Given the description of an element on the screen output the (x, y) to click on. 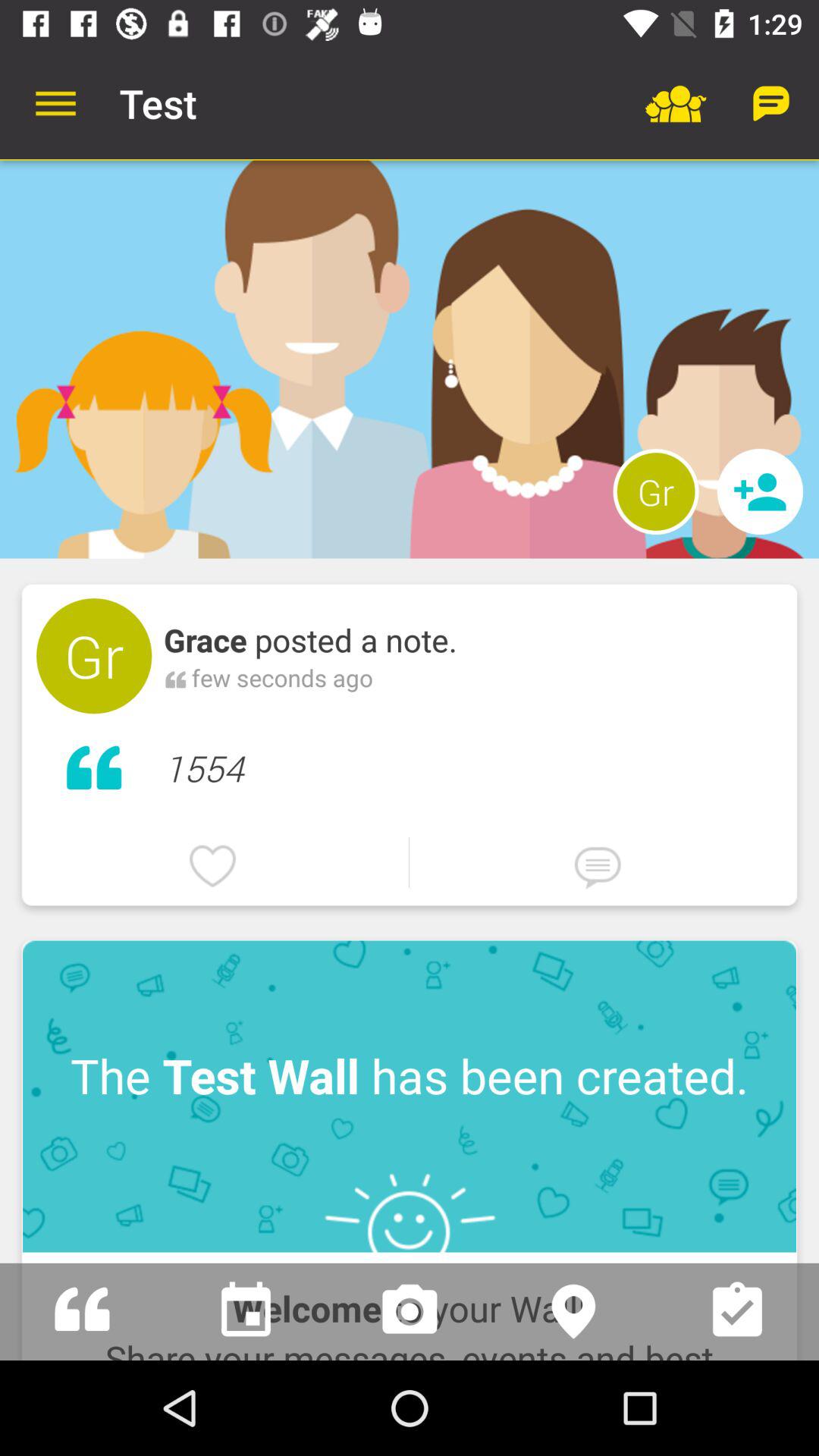
scroll to the the test wall icon (409, 1096)
